Given the description of an element on the screen output the (x, y) to click on. 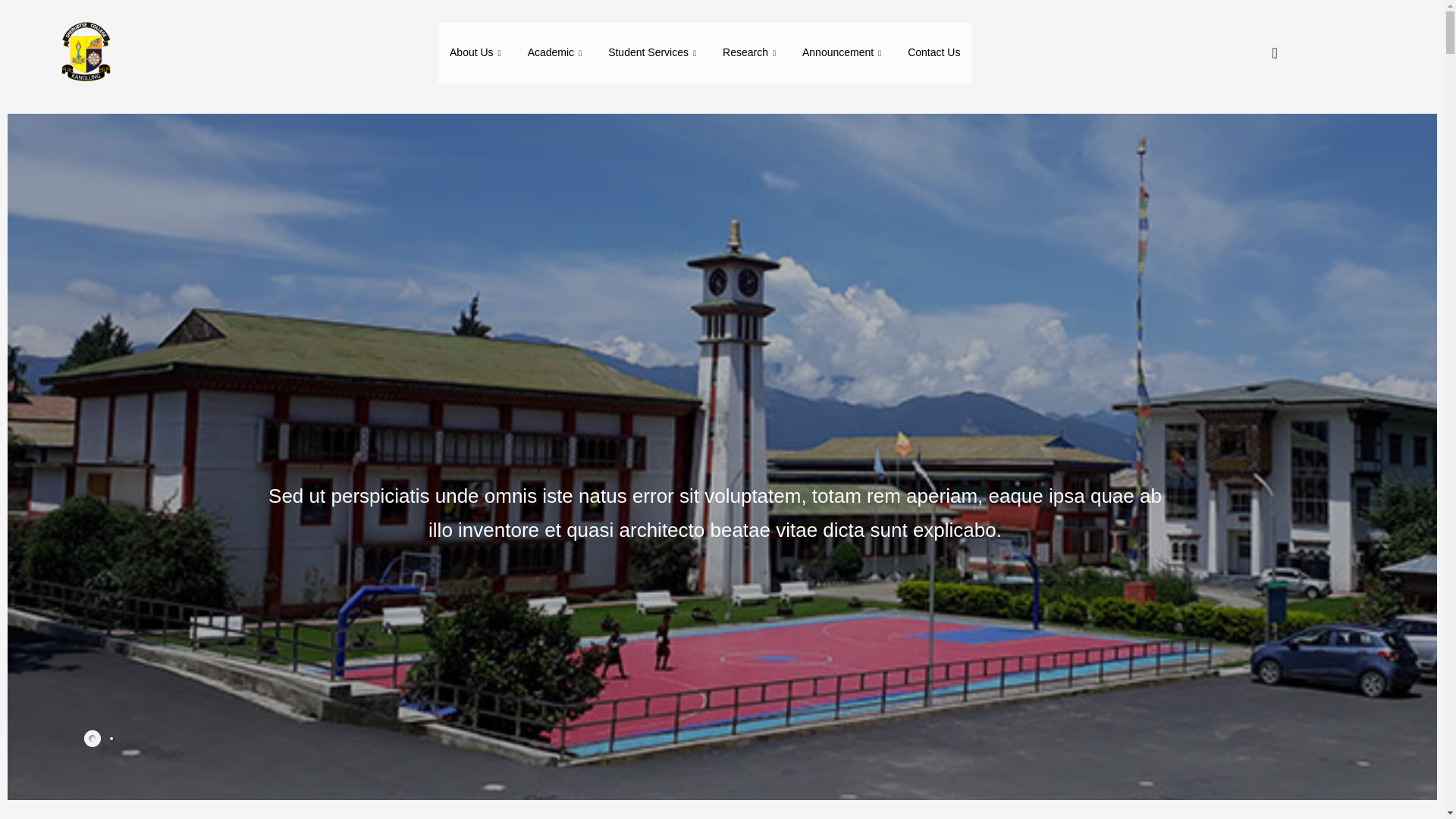
logo-removebg-preview-1 (84, 52)
Contact Us (933, 52)
About Us (477, 52)
Announcement (843, 52)
Research (750, 52)
Student Services (653, 52)
Academic (556, 52)
